Given the description of an element on the screen output the (x, y) to click on. 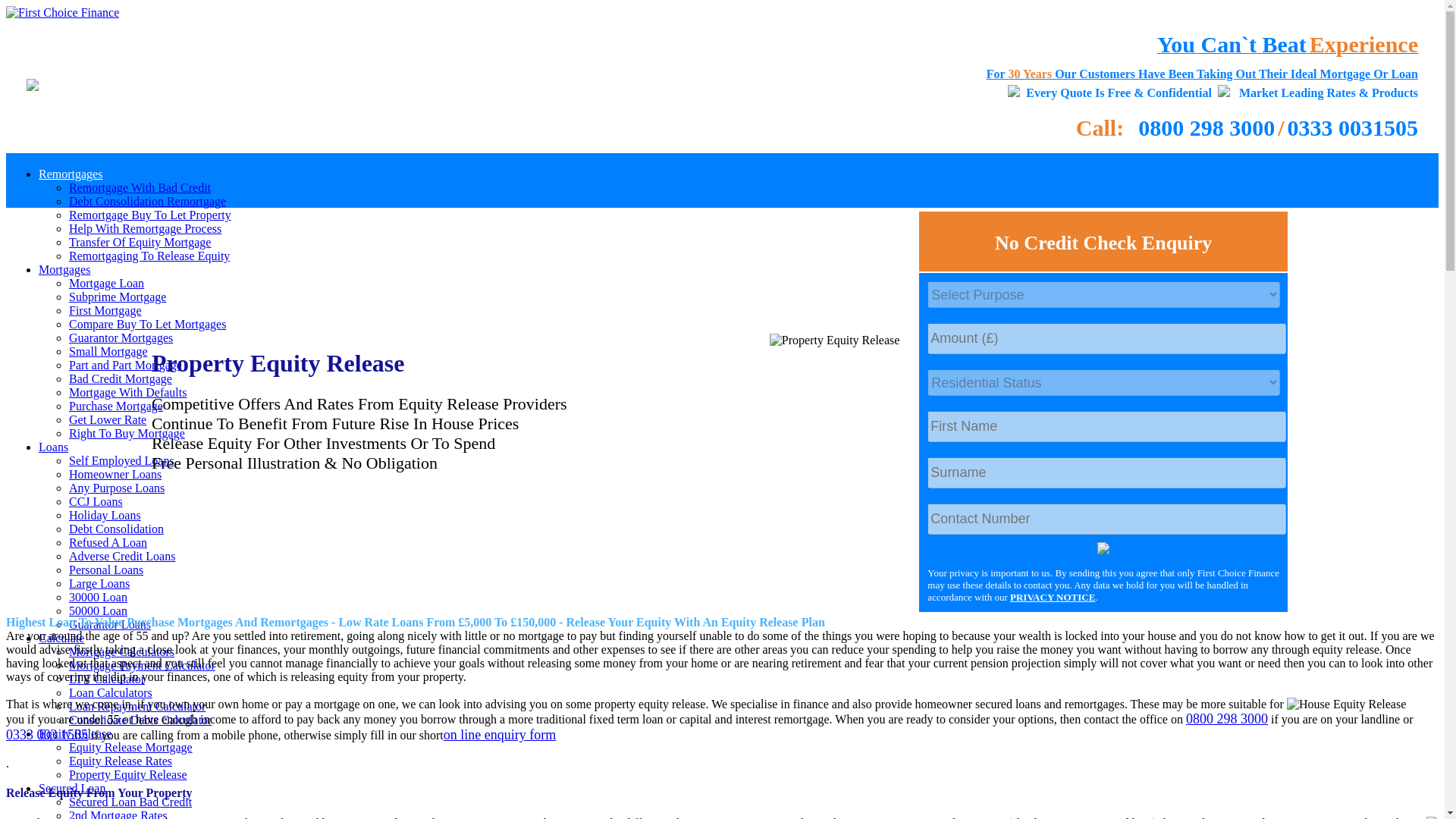
Loans (53, 446)
Remortgages (70, 173)
Adverse Credit Loans (121, 555)
Mortgages (64, 269)
Mortgage Payment Calculator (141, 665)
Guarantor Mortgages (120, 337)
Help With Remortgage Process (144, 228)
Remortgage With Bad Credit (139, 187)
Transfer Of Equity Mortgage (139, 241)
Small Mortgage (108, 350)
